Given the description of an element on the screen output the (x, y) to click on. 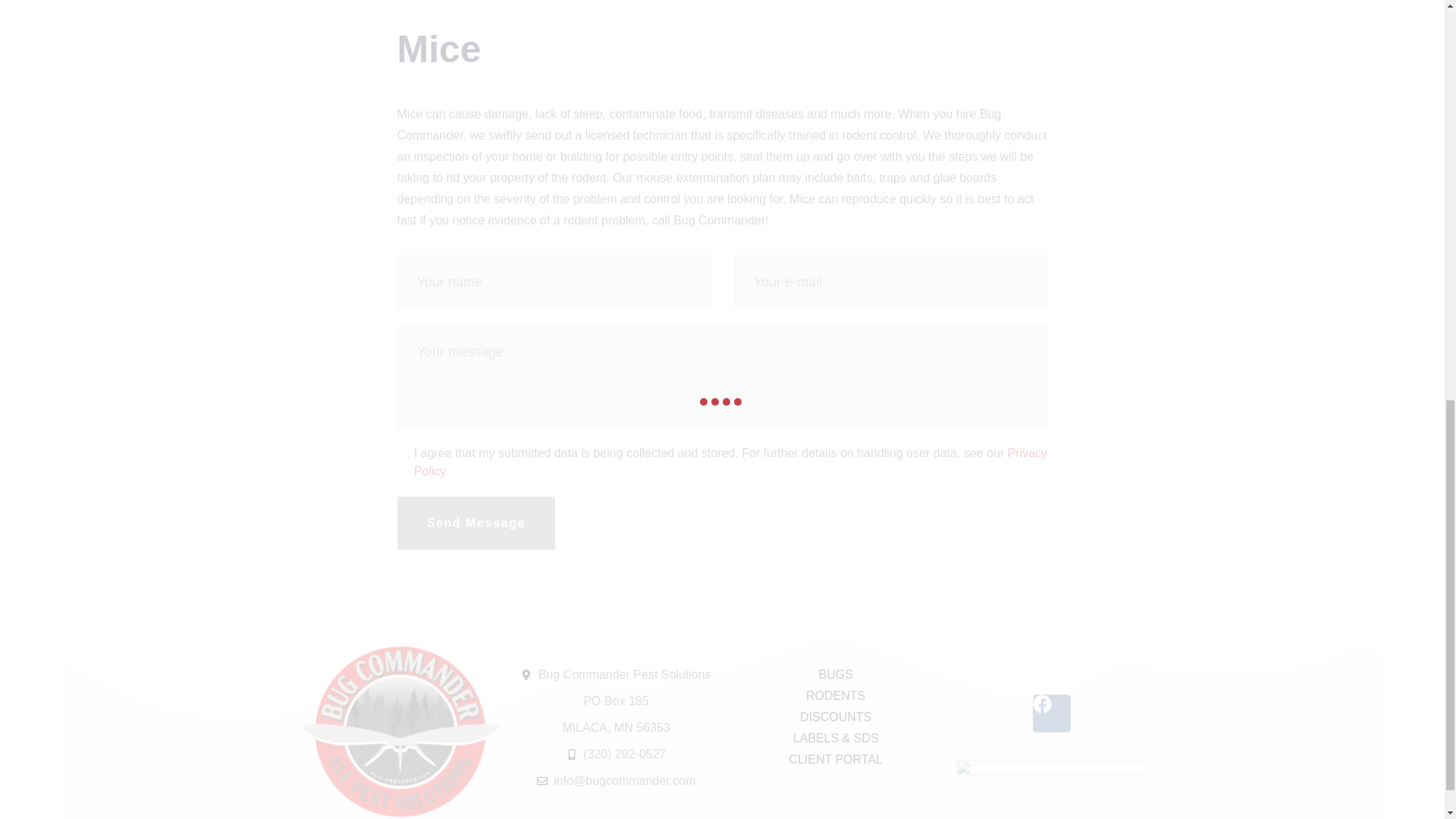
CLIENT PORTAL (835, 759)
BUGS (835, 674)
DISCOUNTS (835, 717)
Send Message (476, 522)
RODENTS (835, 695)
Privacy Policy (729, 461)
